Given the description of an element on the screen output the (x, y) to click on. 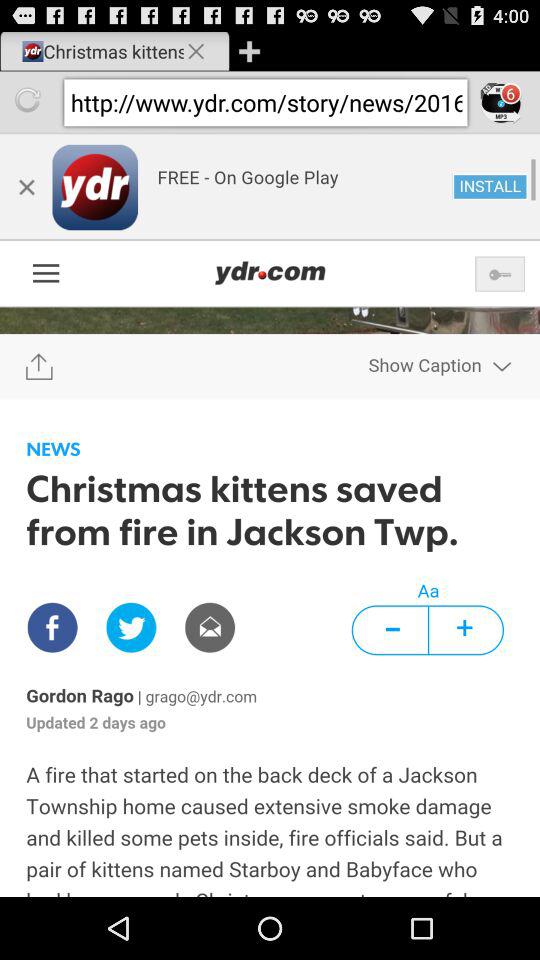
browsing page content (270, 515)
